Given the description of an element on the screen output the (x, y) to click on. 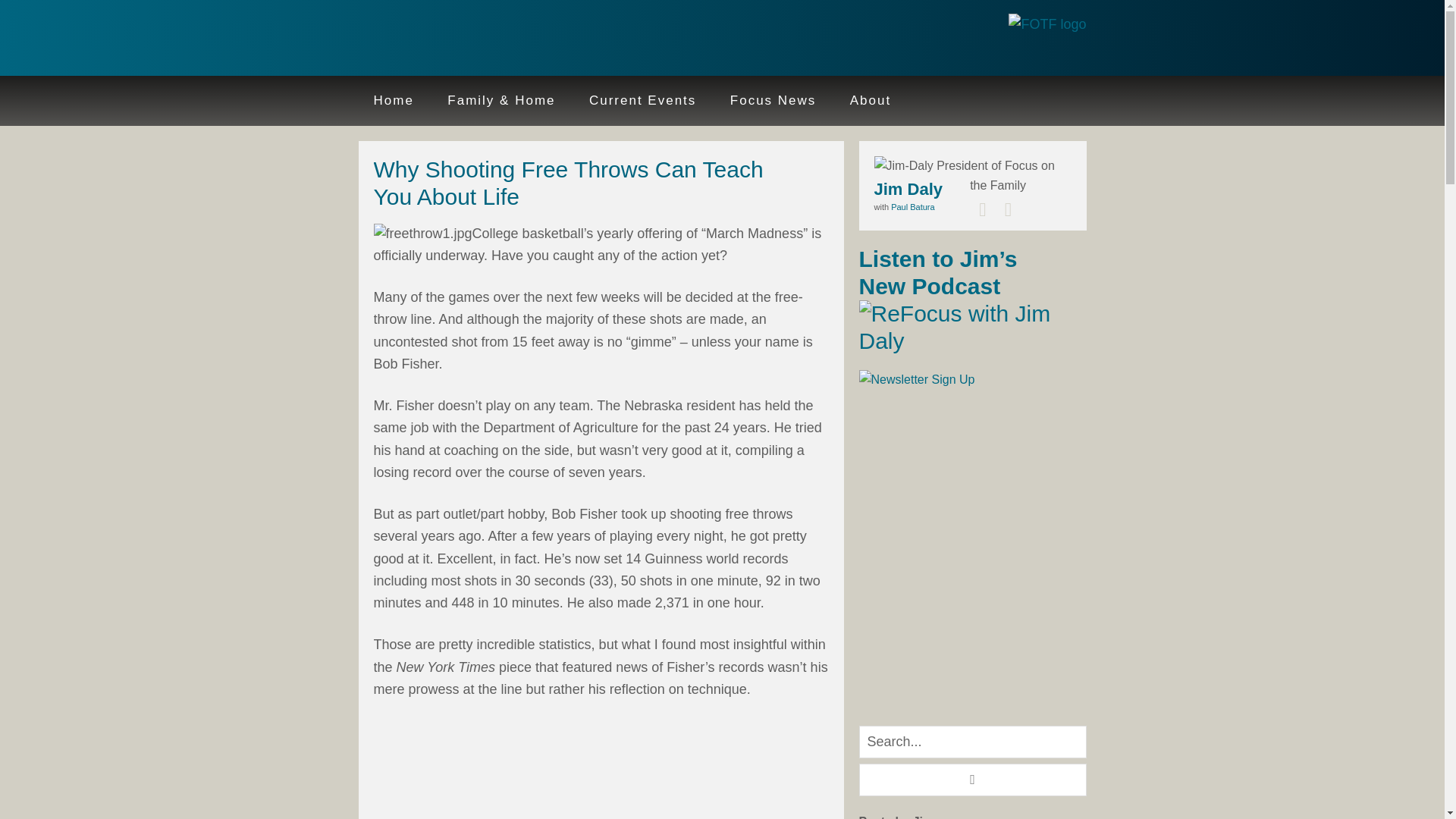
Jim Daly (456, 39)
Current Events (642, 101)
Home (393, 101)
Jim Daly (907, 188)
Paul Batura (912, 206)
About (869, 101)
Focus News (772, 101)
